Given the description of an element on the screen output the (x, y) to click on. 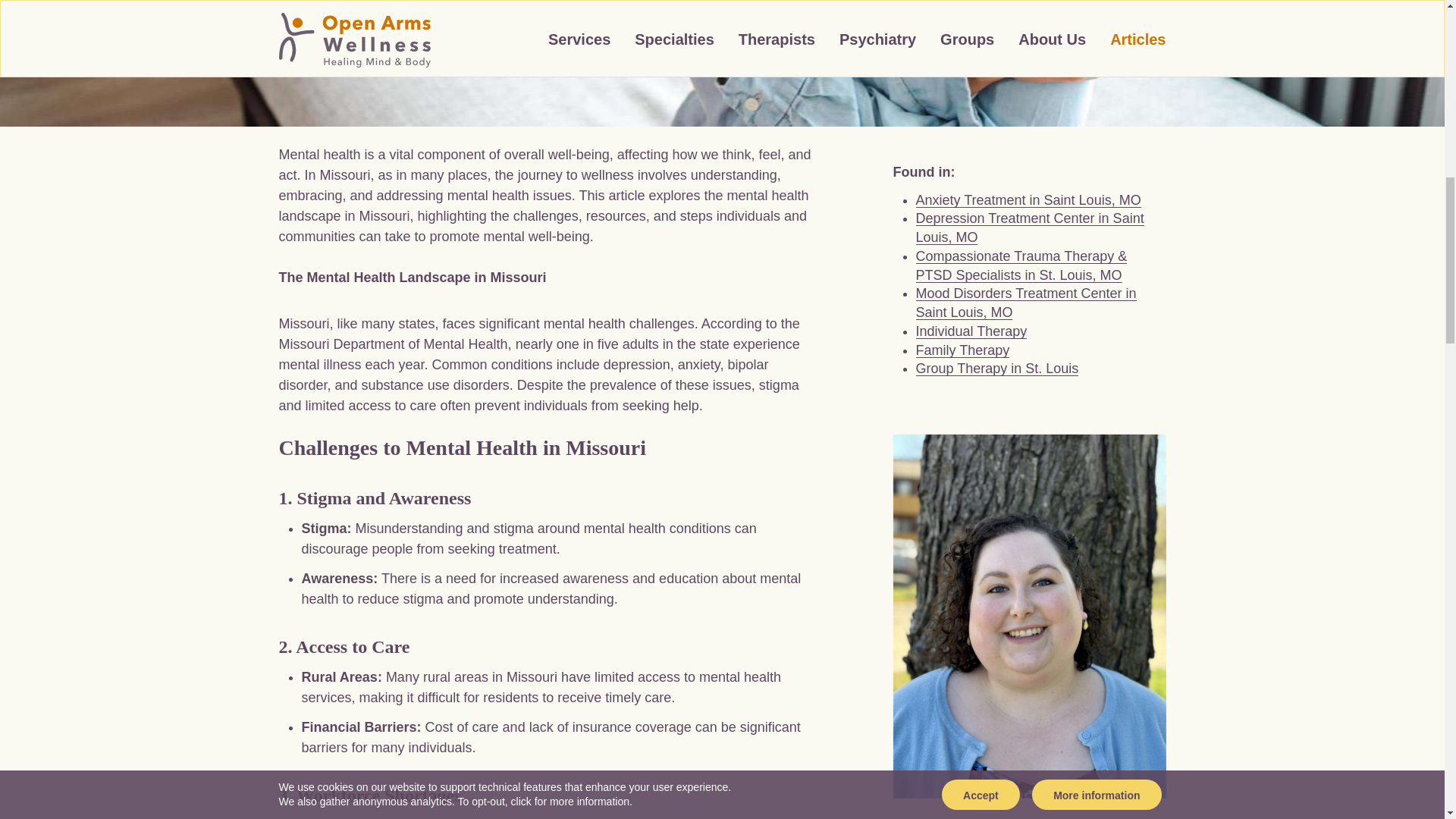
Individual Therapy (971, 331)
Anxiety Treatment in Saint Louis, MO (1028, 200)
Group Therapy in St. Louis (996, 368)
Depression Treatment Center in Saint Louis, MO (1029, 227)
Family Therapy (962, 350)
Mood Disorders Treatment Center in Saint Louis, MO (1026, 302)
